Given the description of an element on the screen output the (x, y) to click on. 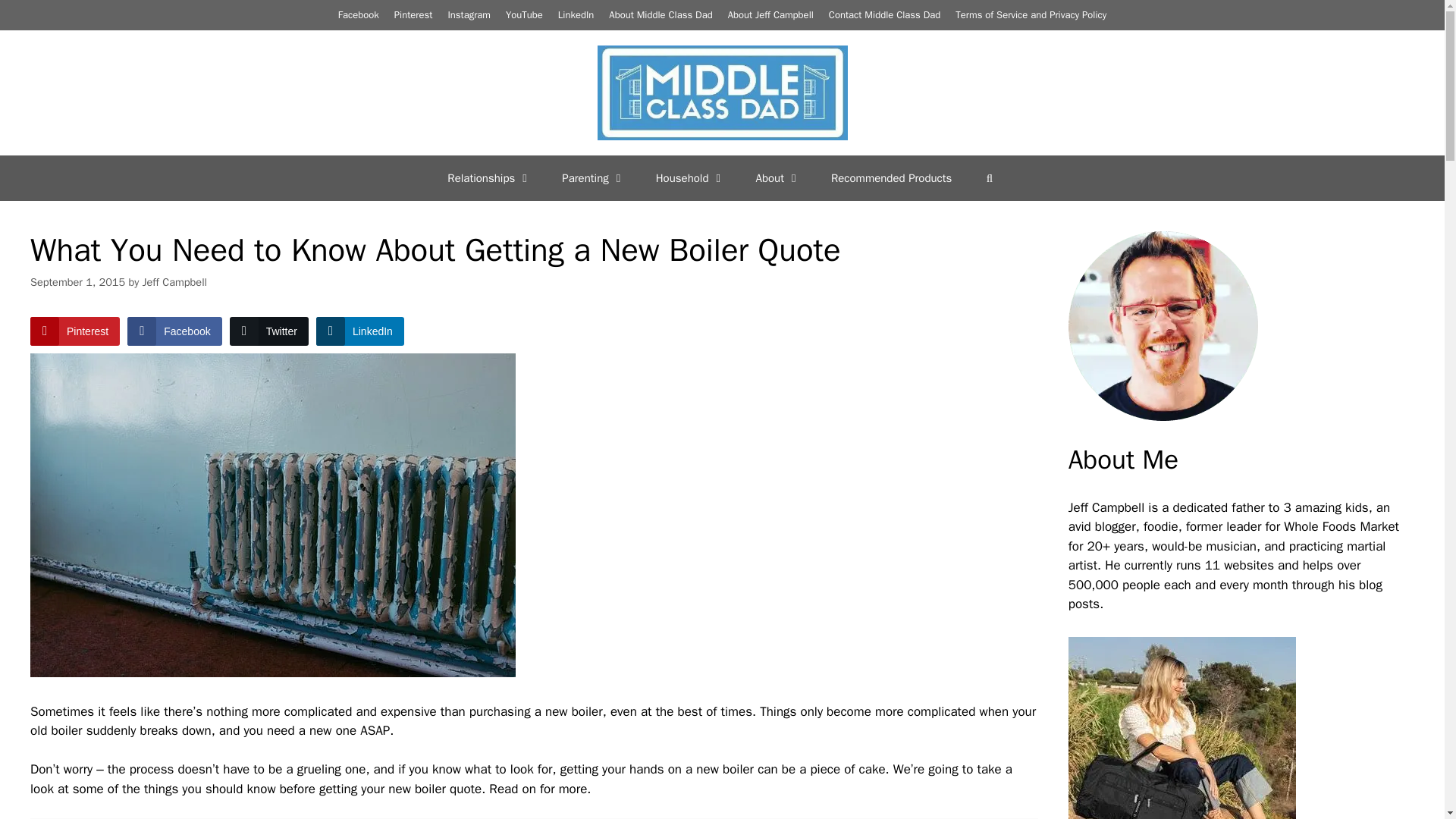
Facebook (357, 14)
Relationships (489, 177)
Instagram (468, 14)
About Middle Class Dad (659, 14)
Pinterest (413, 14)
Household (690, 177)
About Jeff Campbell (770, 14)
Parenting (593, 177)
YouTube (524, 14)
LinkedIn (575, 14)
